Given the description of an element on the screen output the (x, y) to click on. 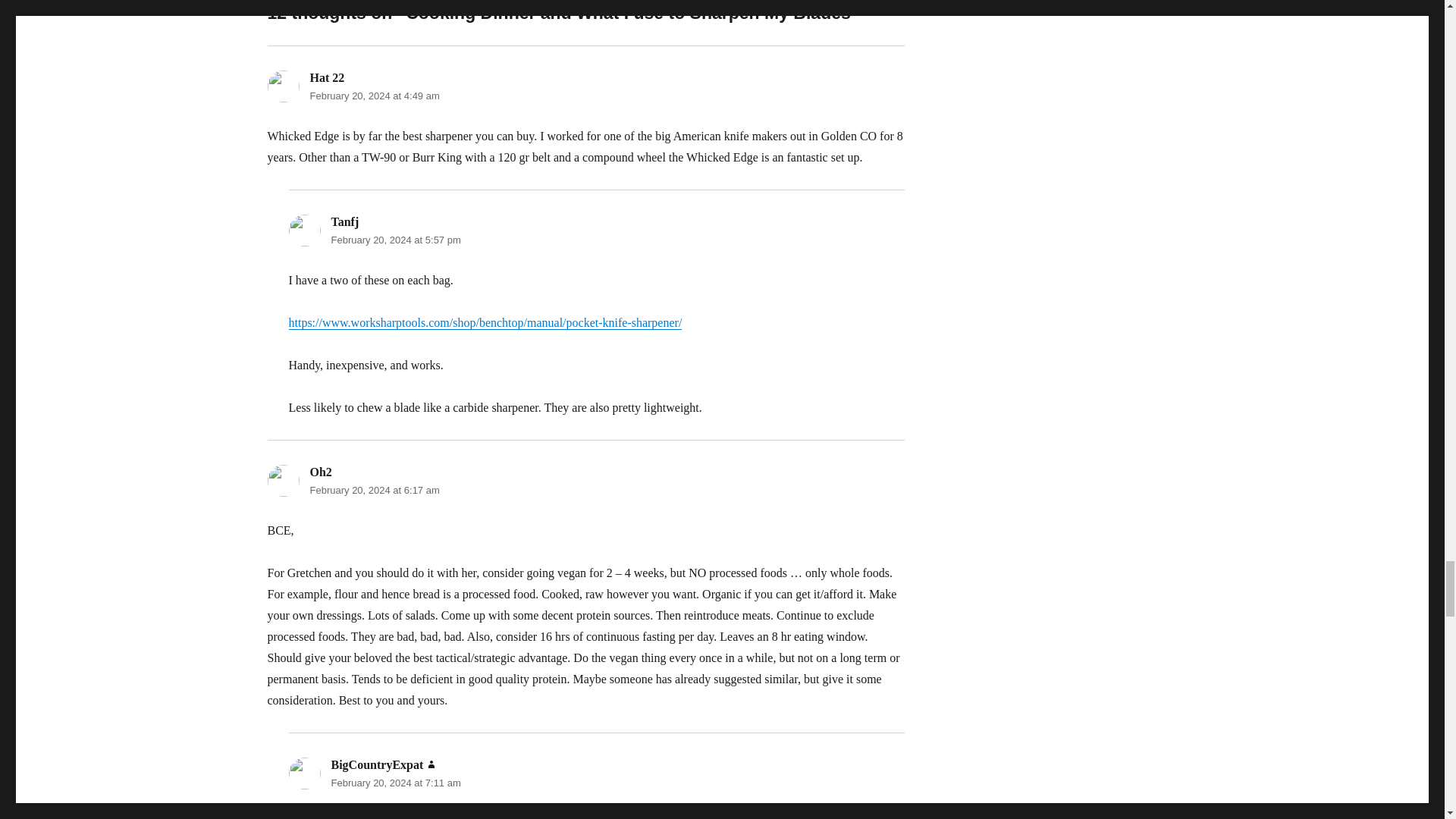
February 20, 2024 at 7:11 am (395, 782)
February 20, 2024 at 4:49 am (373, 95)
February 20, 2024 at 6:17 am (373, 490)
February 20, 2024 at 5:57 pm (395, 239)
